Given the description of an element on the screen output the (x, y) to click on. 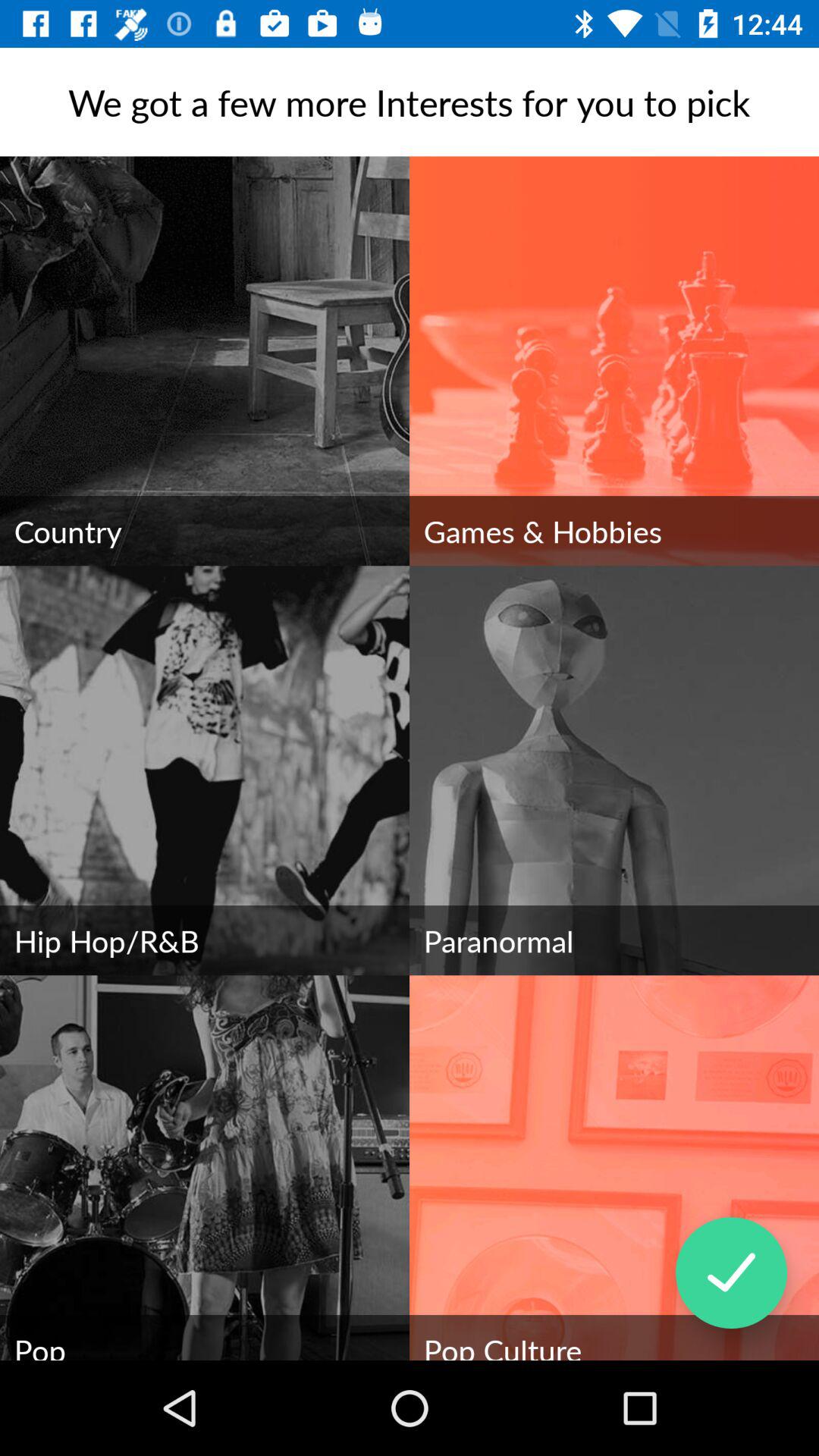
click the item above the pop culture item (731, 1272)
